Given the description of an element on the screen output the (x, y) to click on. 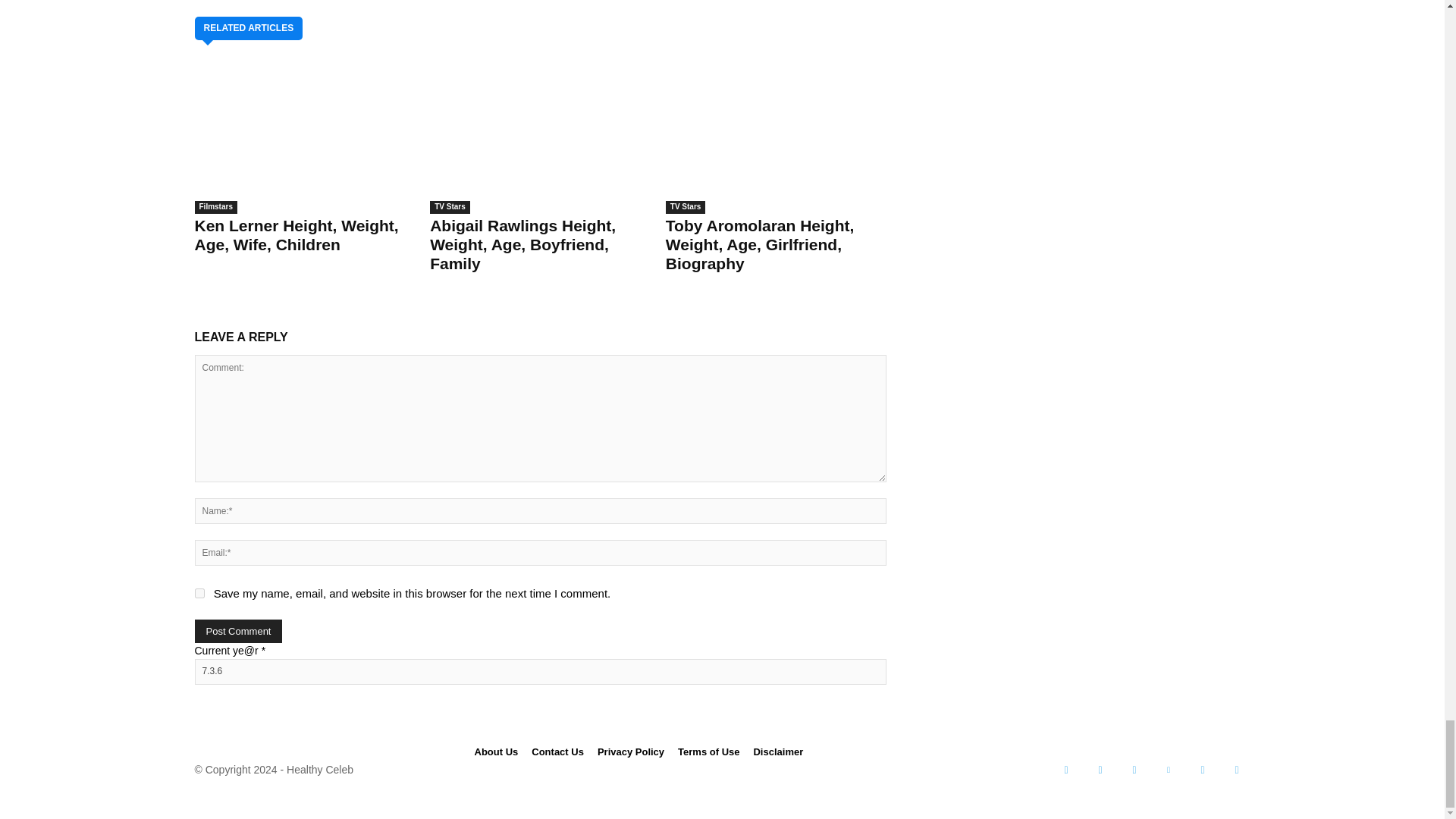
yes (198, 593)
7.3.6 (539, 671)
Post Comment (237, 630)
